Given the description of an element on the screen output the (x, y) to click on. 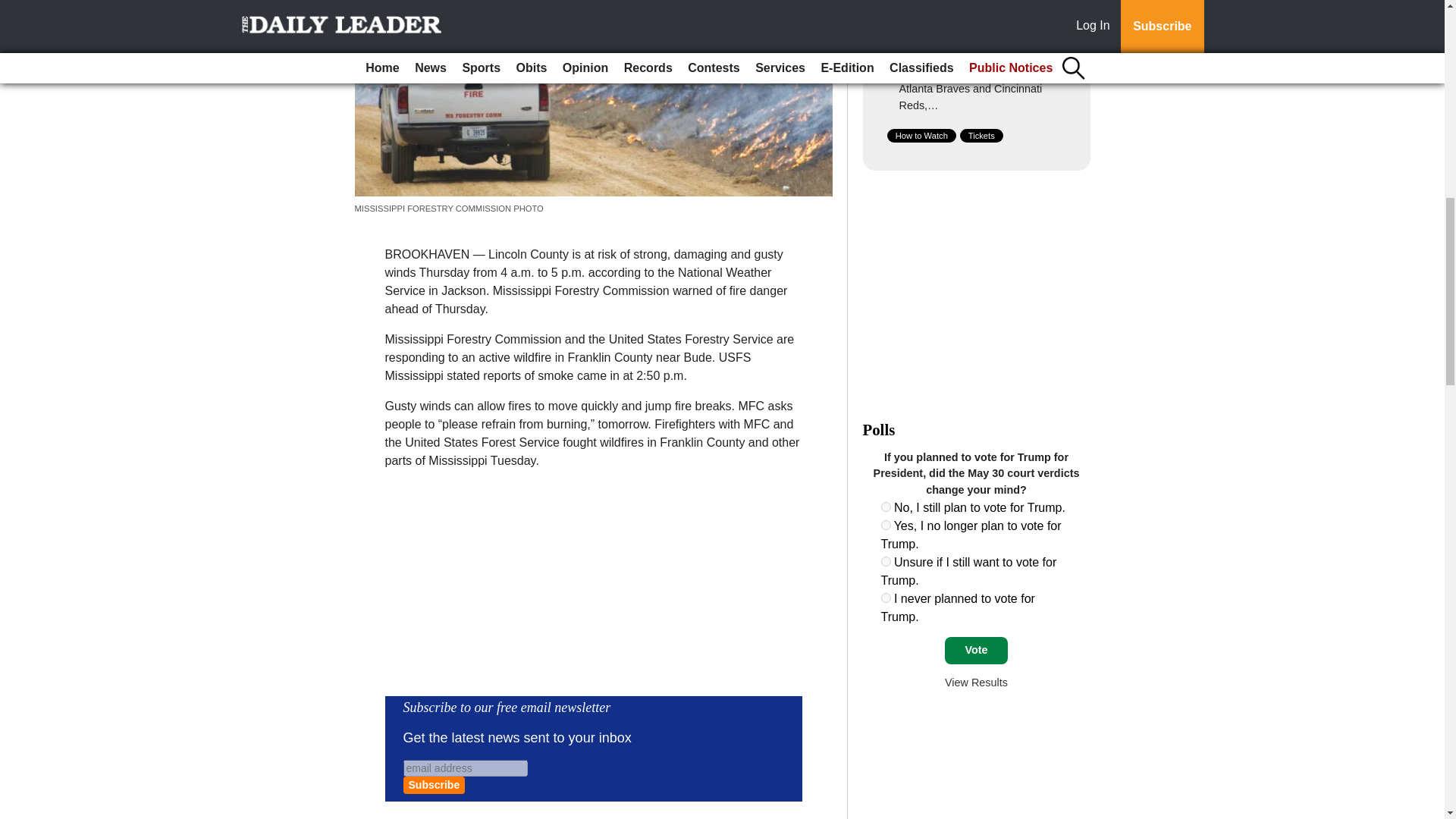
   Vote    (975, 650)
How to Watch (921, 135)
Subscribe (434, 784)
Subscribe (434, 784)
846 (885, 506)
849 (885, 597)
848 (885, 561)
View Results Of This Poll (975, 682)
847 (885, 524)
